Given the description of an element on the screen output the (x, y) to click on. 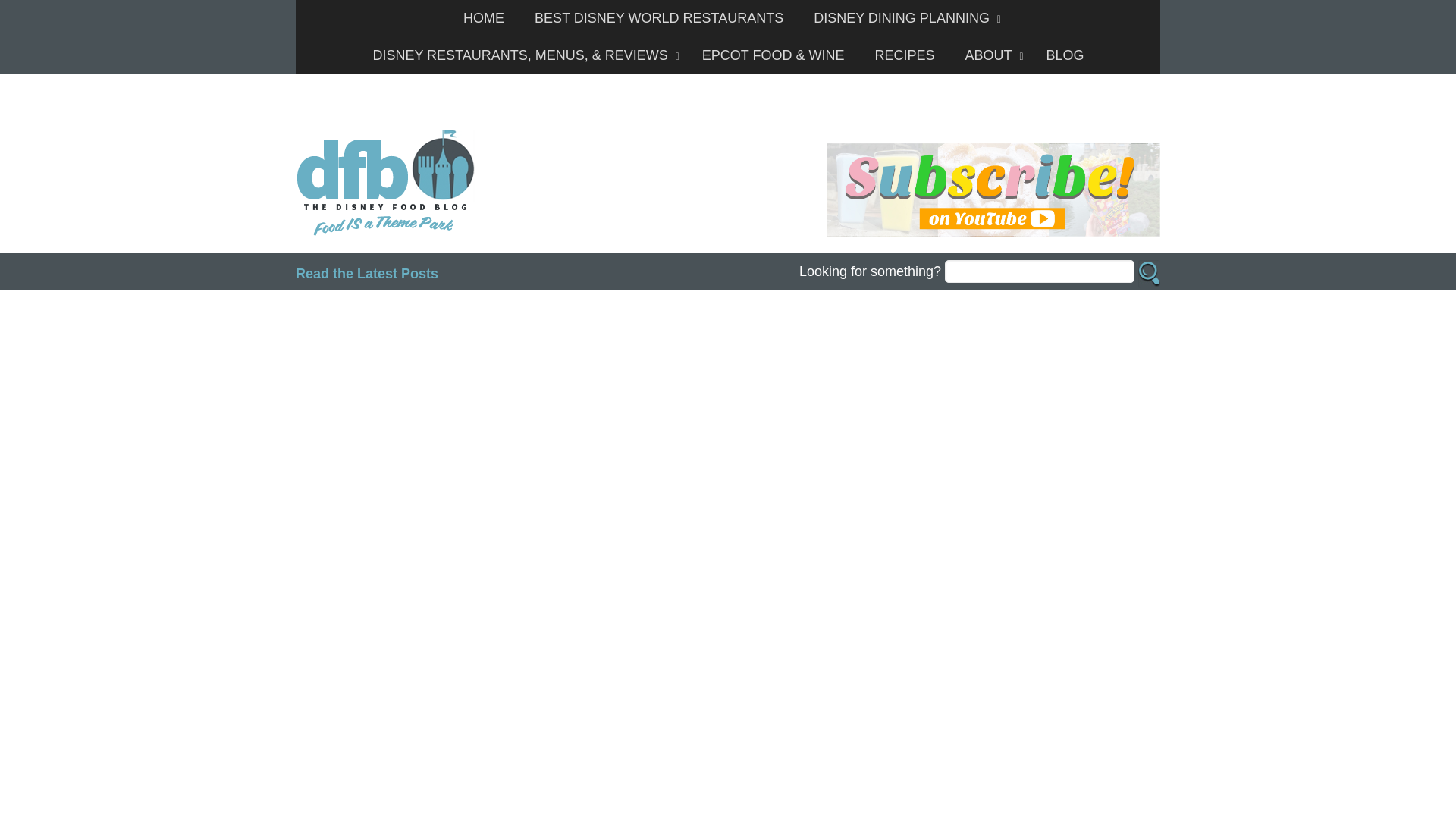
HOME (483, 18)
DISNEY DINING PLANNING (903, 18)
BEST DISNEY WORLD RESTAURANTS (658, 18)
